Given the description of an element on the screen output the (x, y) to click on. 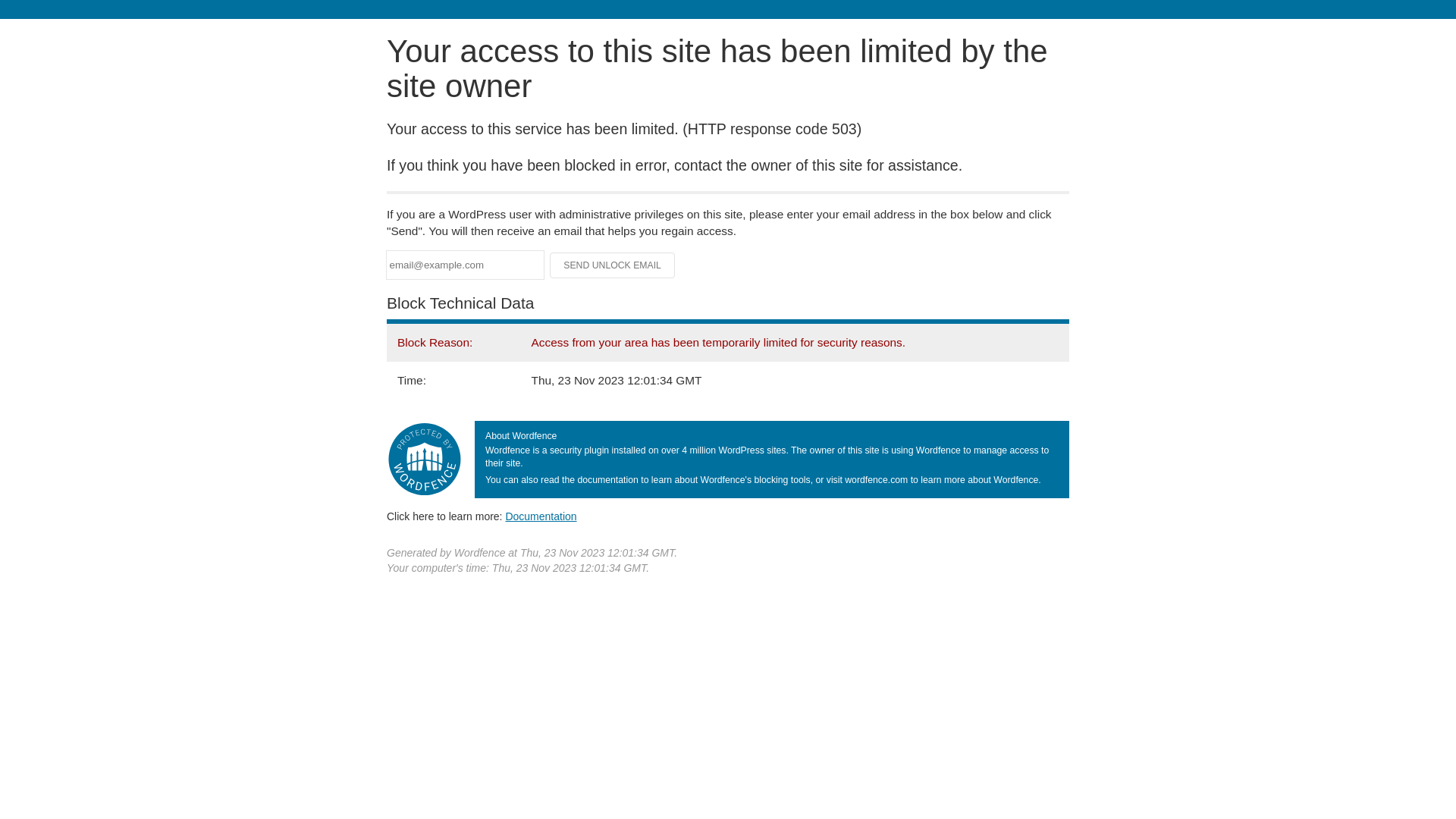
Send Unlock Email Element type: text (612, 265)
Documentation Element type: text (540, 516)
